Given the description of an element on the screen output the (x, y) to click on. 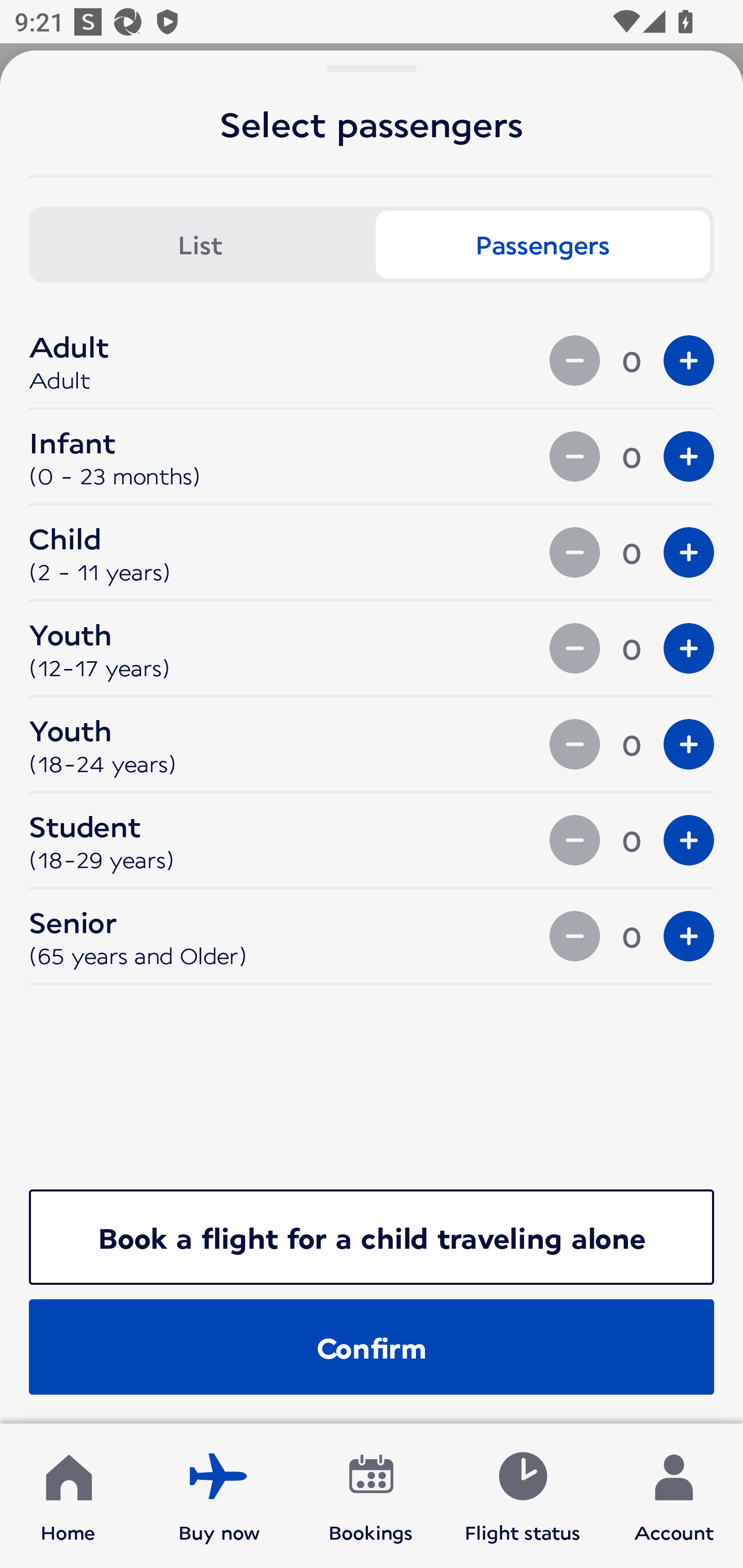
List (200, 244)
Passengers (542, 244)
Book a flight for a child traveling alone (371, 1237)
Confirm (371, 1346)
Home (68, 1495)
Bookings (370, 1495)
Flight status (522, 1495)
Account (674, 1495)
